Given the description of an element on the screen output the (x, y) to click on. 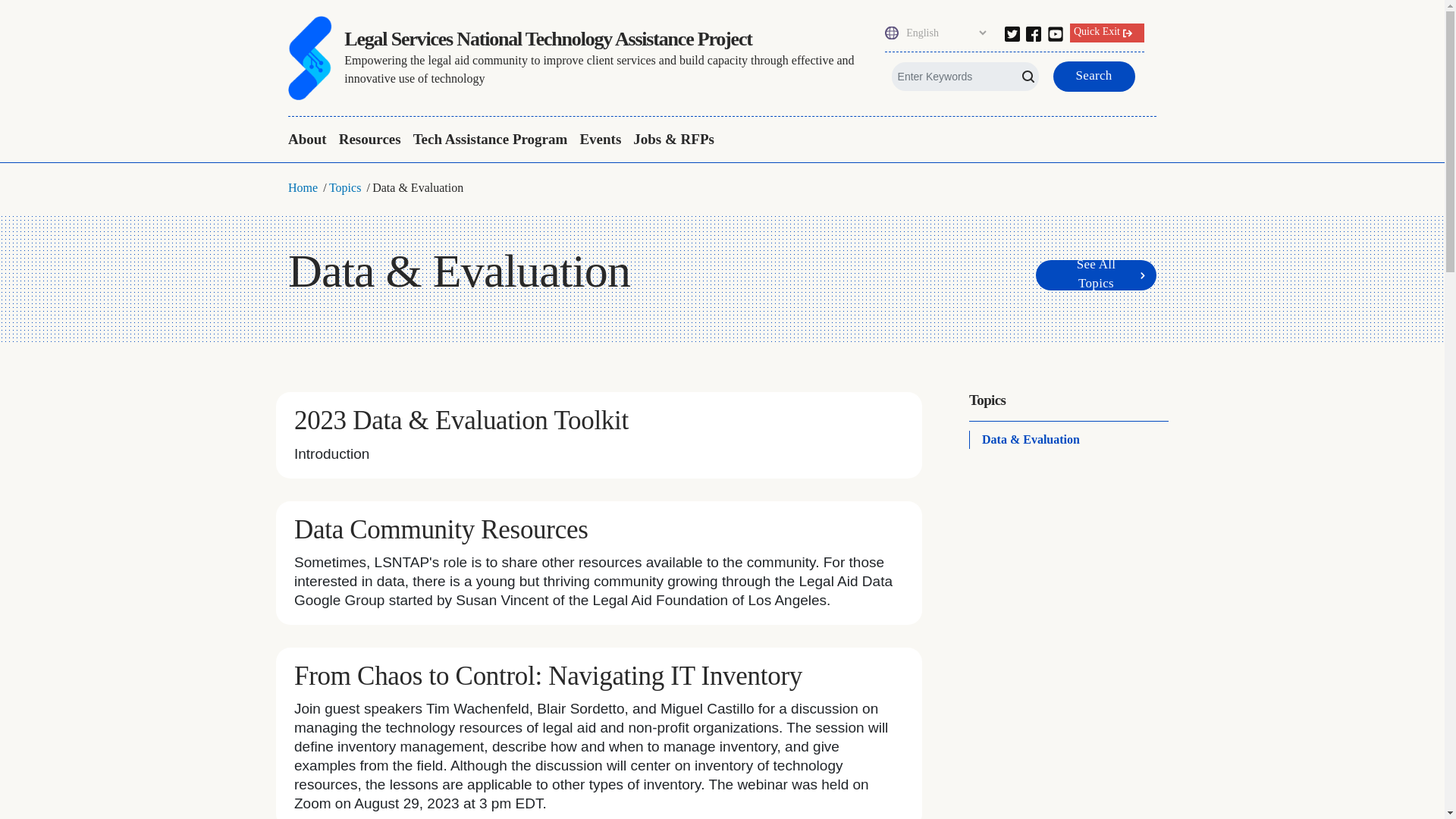
Topics (345, 187)
Search (1093, 76)
See All Topics (1095, 275)
From Chaos to Control: Navigating IT Inventory (548, 675)
Data Community Resources (441, 529)
Skip to main content (721, 1)
Tech Assistance Program (490, 139)
Quick Exit (1107, 32)
About (310, 139)
Search (29, 14)
